Given the description of an element on the screen output the (x, y) to click on. 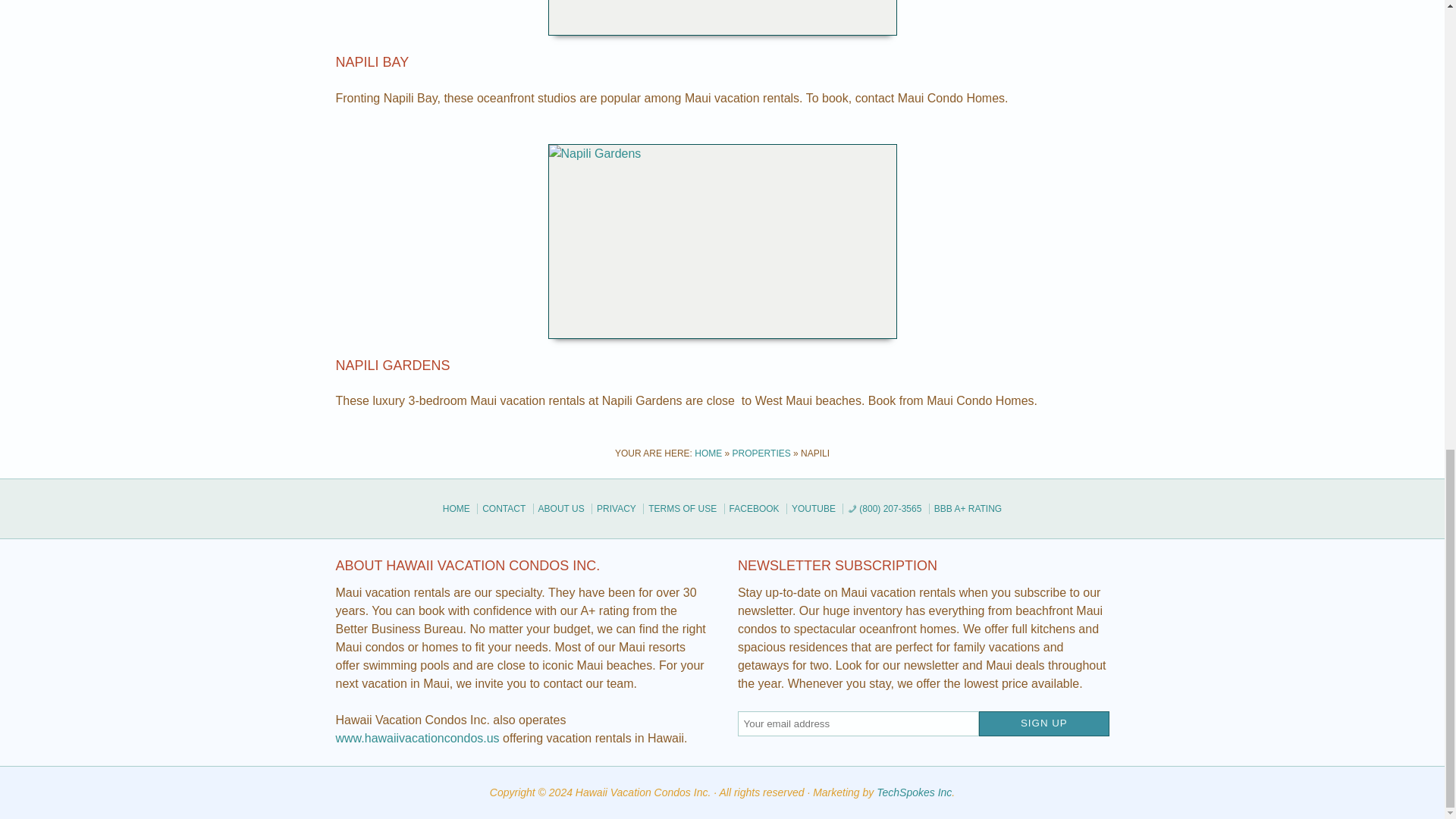
Sign up (1043, 723)
Napili Gardens (391, 365)
Napili Bay (721, 18)
Napili Bay (371, 61)
Unique web and marketing solutions for your vacation rentals (914, 792)
